Given the description of an element on the screen output the (x, y) to click on. 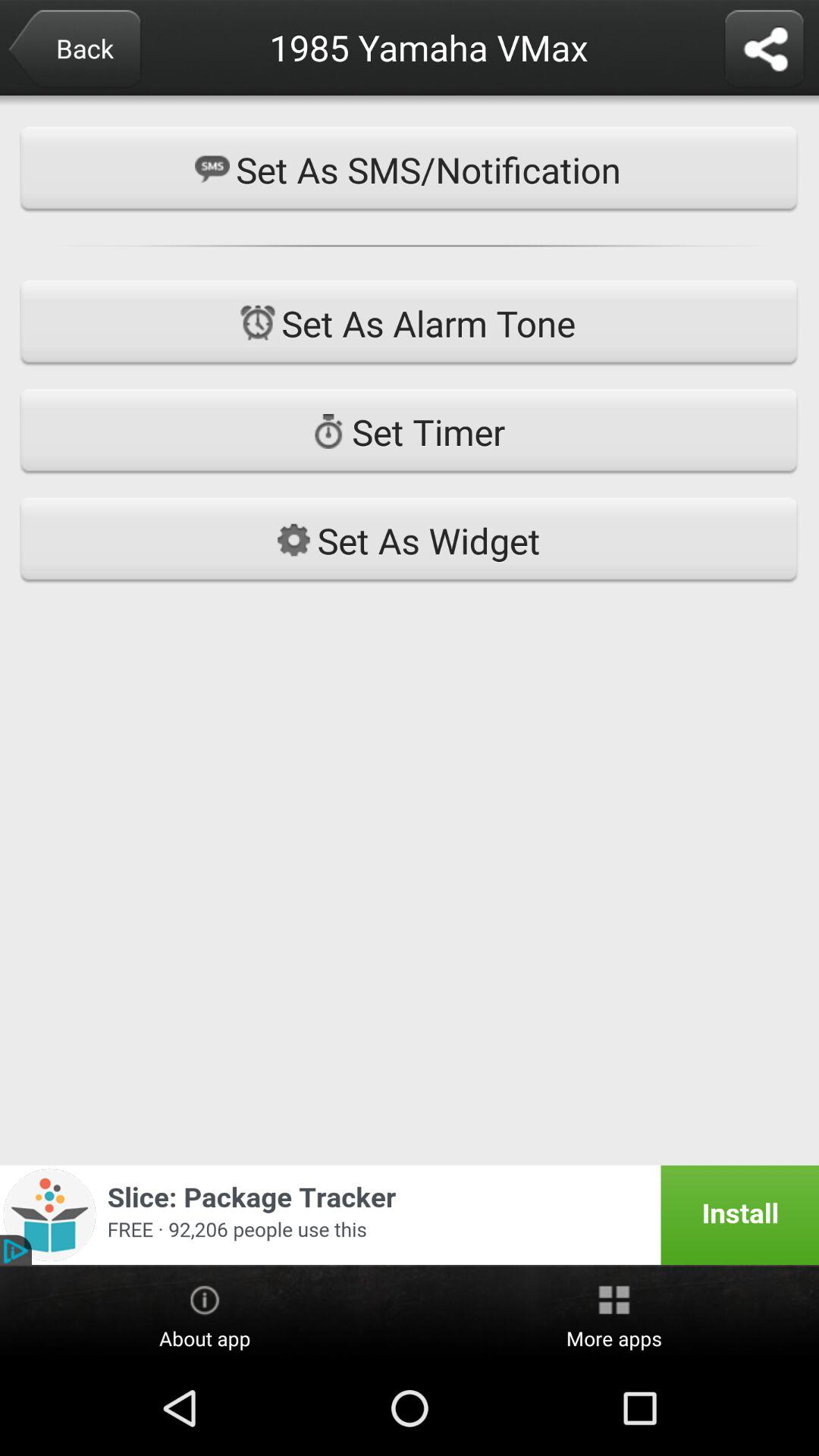
launch the button next to the more apps (204, 1314)
